Given the description of an element on the screen output the (x, y) to click on. 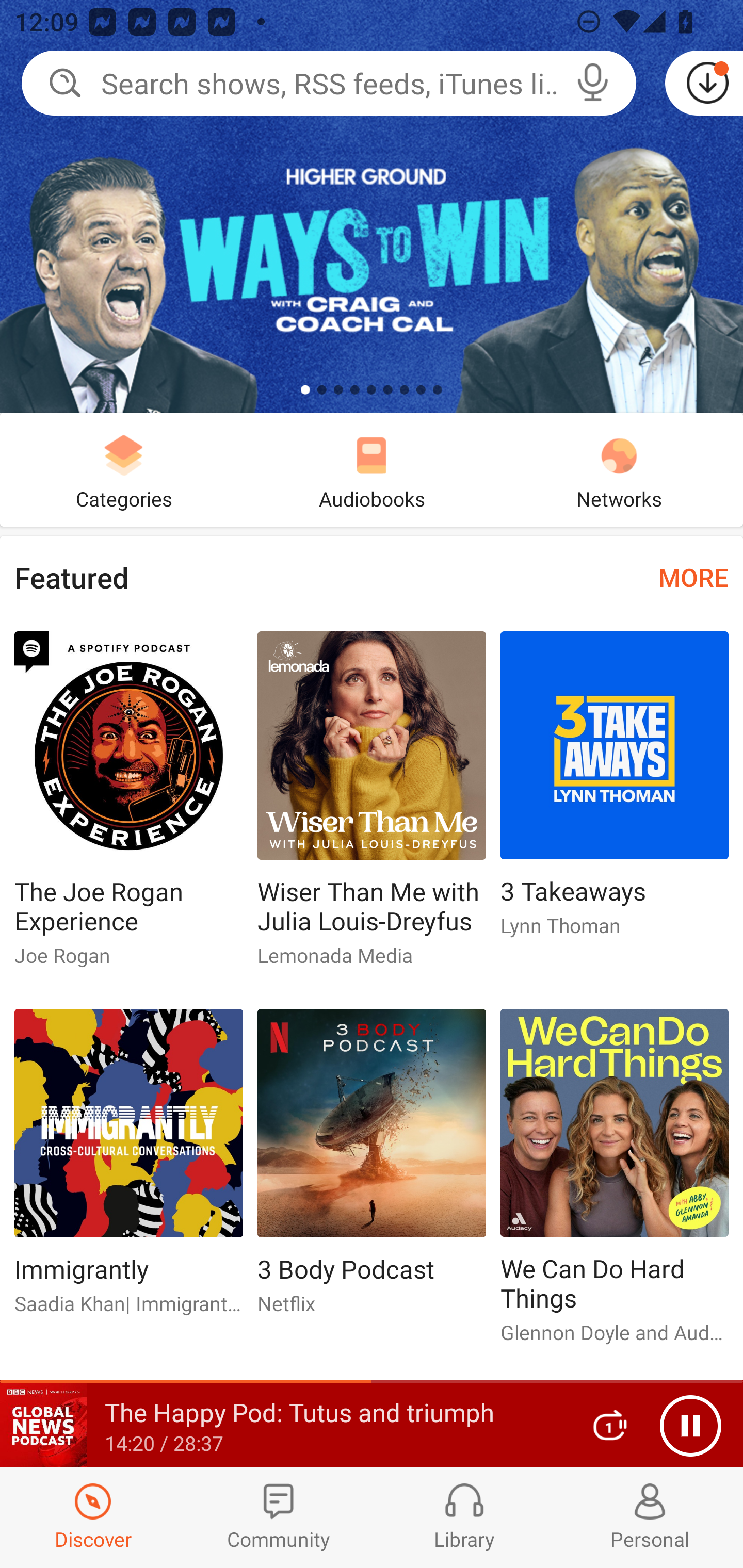
Ways To Win (371, 206)
Categories (123, 469)
Audiobooks (371, 469)
Networks (619, 469)
MORE (693, 576)
3 Takeaways 3 Takeaways Lynn Thoman (614, 792)
3 Body Podcast 3 Body Podcast Netflix (371, 1169)
The Happy Pod: Tutus and triumph 14:20 / 28:37 (283, 1424)
Pause (690, 1425)
Discover (92, 1517)
Community (278, 1517)
Library (464, 1517)
Profiles and Settings Personal (650, 1517)
